Given the description of an element on the screen output the (x, y) to click on. 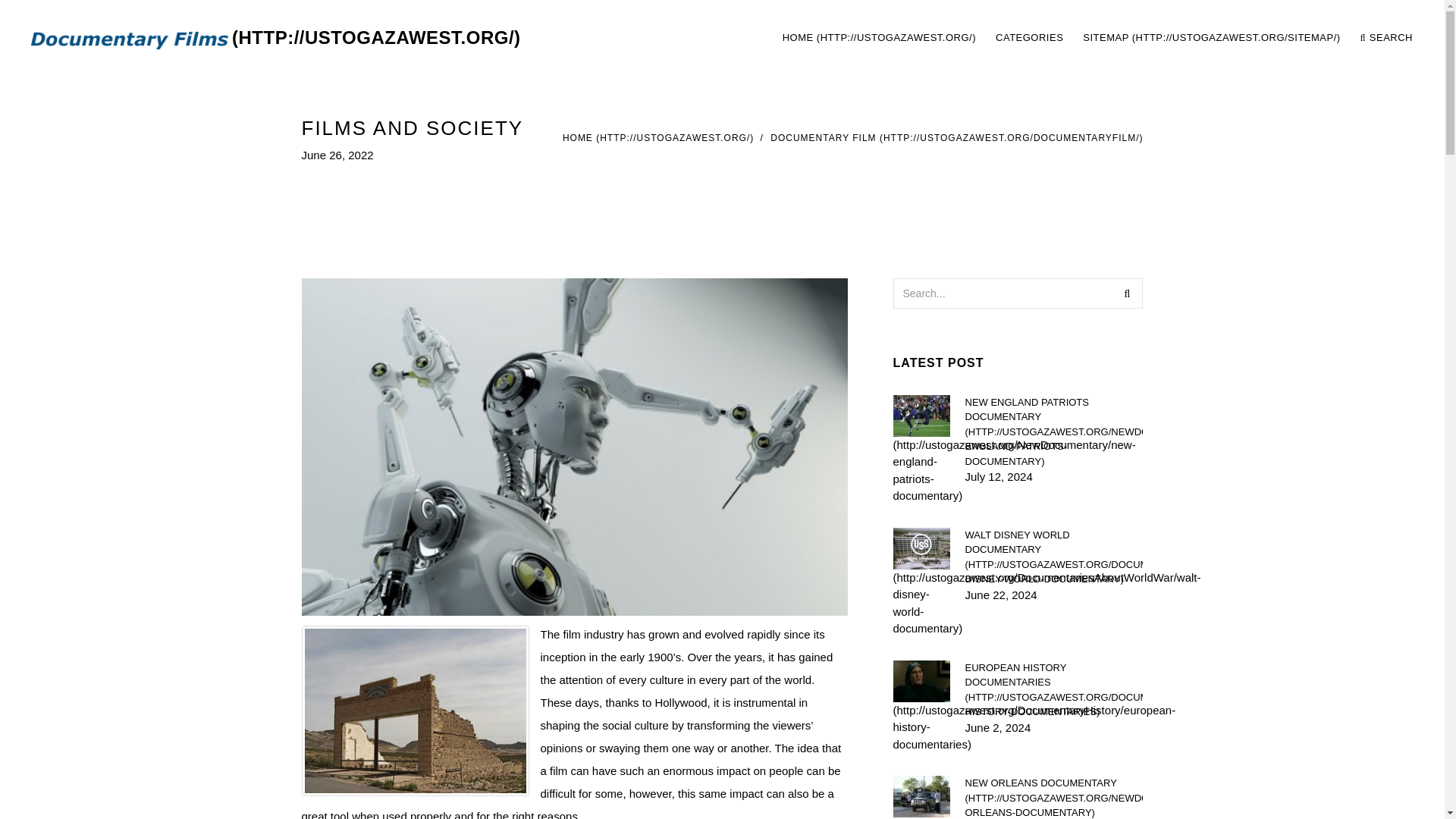
NEW ORLEANS DOCUMENTARY (1052, 797)
EUROPEAN HISTORY DOCUMENTARIES (1052, 689)
SEARCH (1386, 38)
Search (1126, 292)
WALT DISNEY WORLD DOCUMENTARY (1052, 557)
CATEGORIES (1029, 38)
Documentary Films (272, 38)
NEW ENGLAND PATRIOTS DOCUMENTARY (1052, 430)
DOCUMENTARY FILM (956, 137)
HOME (879, 38)
SITEMAP (1211, 38)
HOME (658, 137)
